Given the description of an element on the screen output the (x, y) to click on. 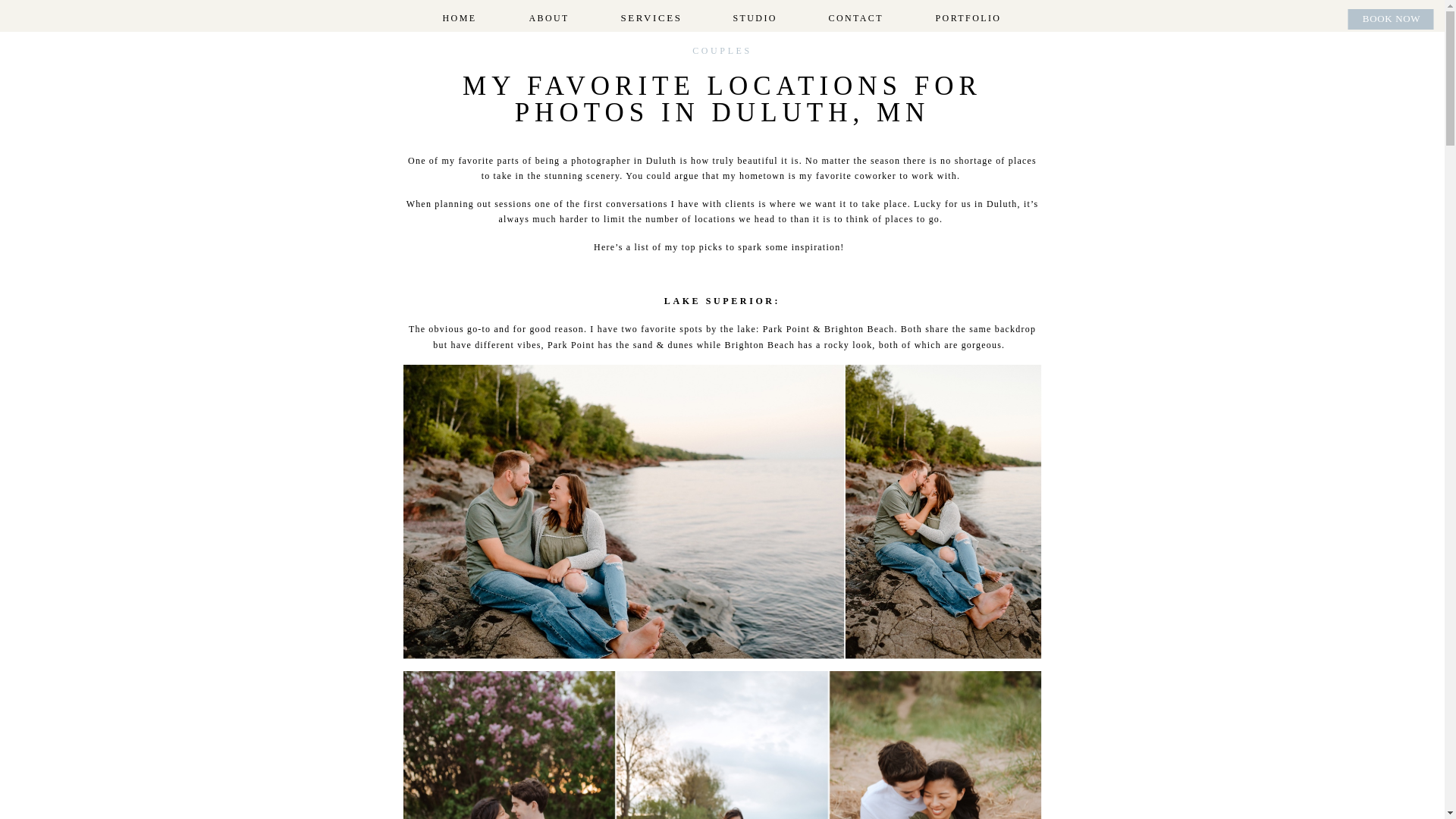
HOME (459, 19)
ABOUT (548, 19)
SERVICES (649, 18)
COUPLES (722, 50)
STUDIO (753, 19)
BOOK NOW (1390, 20)
PORTFOLIO (968, 19)
CONTACT (855, 19)
